Given the description of an element on the screen output the (x, y) to click on. 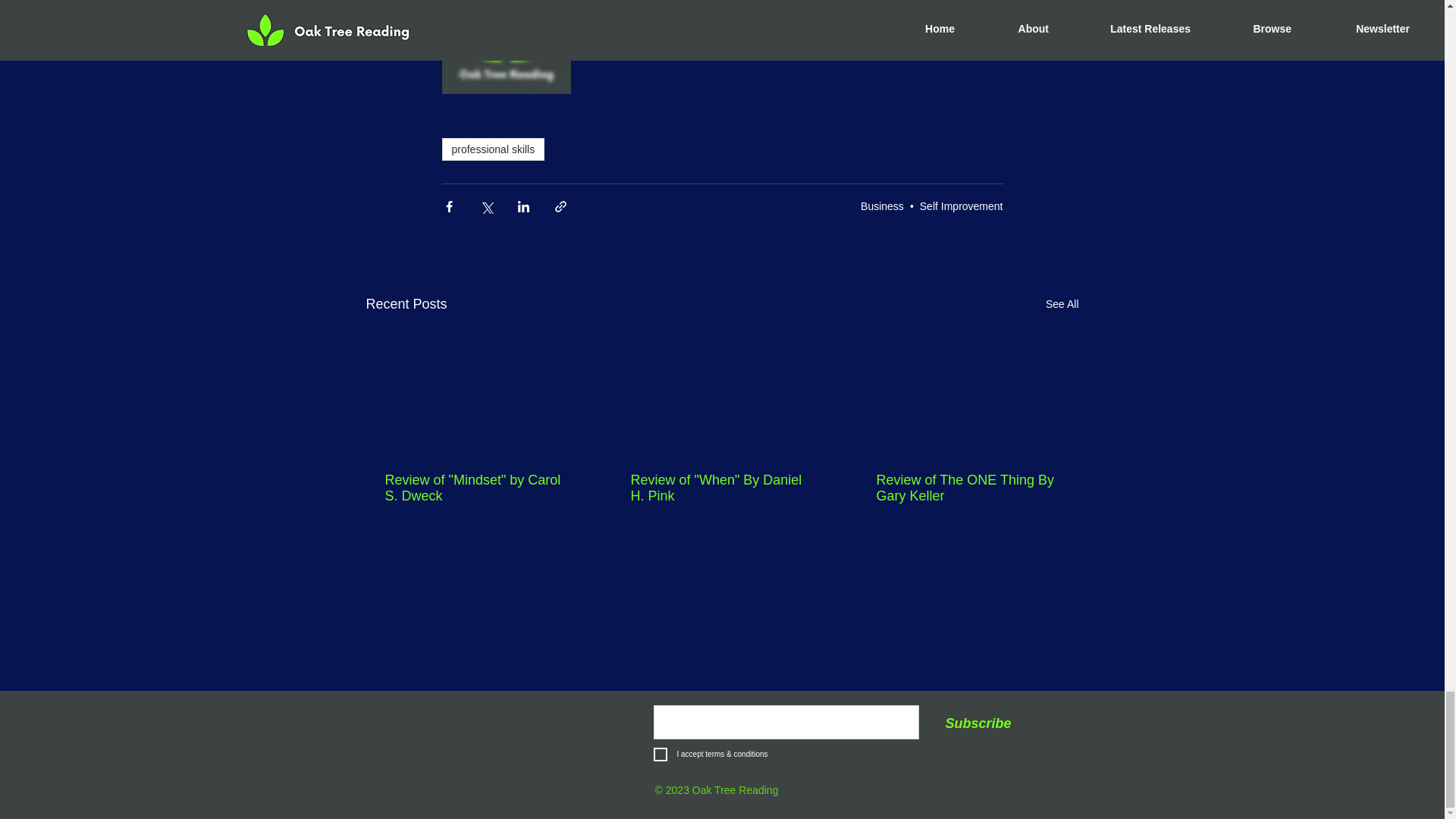
Review of "Mindset" by Carol S. Dweck (476, 488)
Self Improvement (961, 205)
Review of "When" By Daniel H. Pink (721, 488)
professional skills (492, 149)
See All (1061, 304)
Review of The ONE Thing By Gary Keller (967, 488)
Subscribe (978, 724)
Business (882, 205)
